Given the description of an element on the screen output the (x, y) to click on. 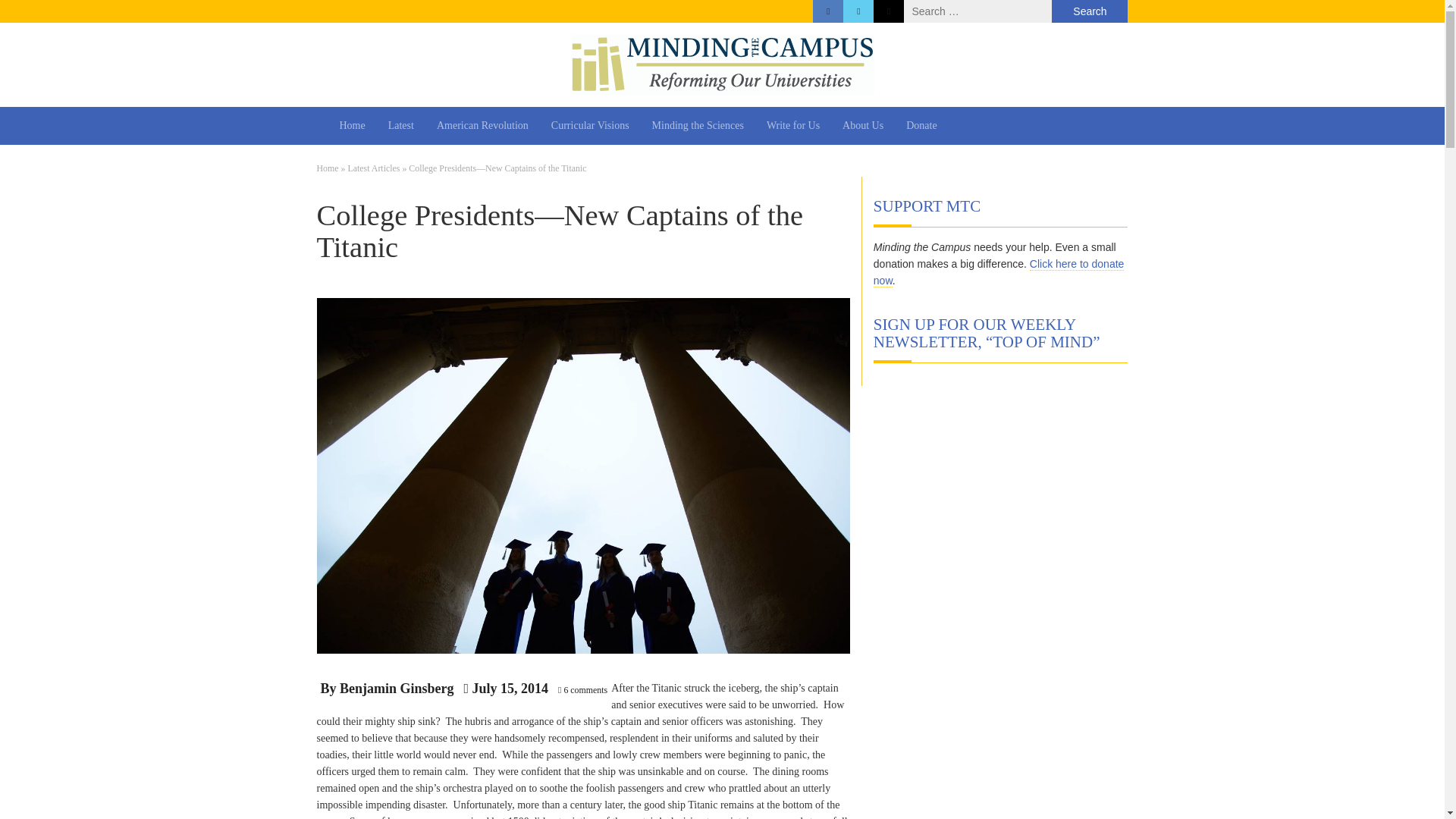
American Revolution (482, 125)
Curricular Visions (590, 125)
Write for Us (793, 125)
By Benjamin Ginsberg (386, 689)
Home (351, 125)
Click here to donate now (998, 272)
6 comments (585, 689)
Home (328, 167)
Donate (921, 125)
Search (1088, 11)
American Revolution (482, 125)
Home (351, 125)
About Us (863, 125)
Search (1088, 11)
Curricular Visions (590, 125)
